Given the description of an element on the screen output the (x, y) to click on. 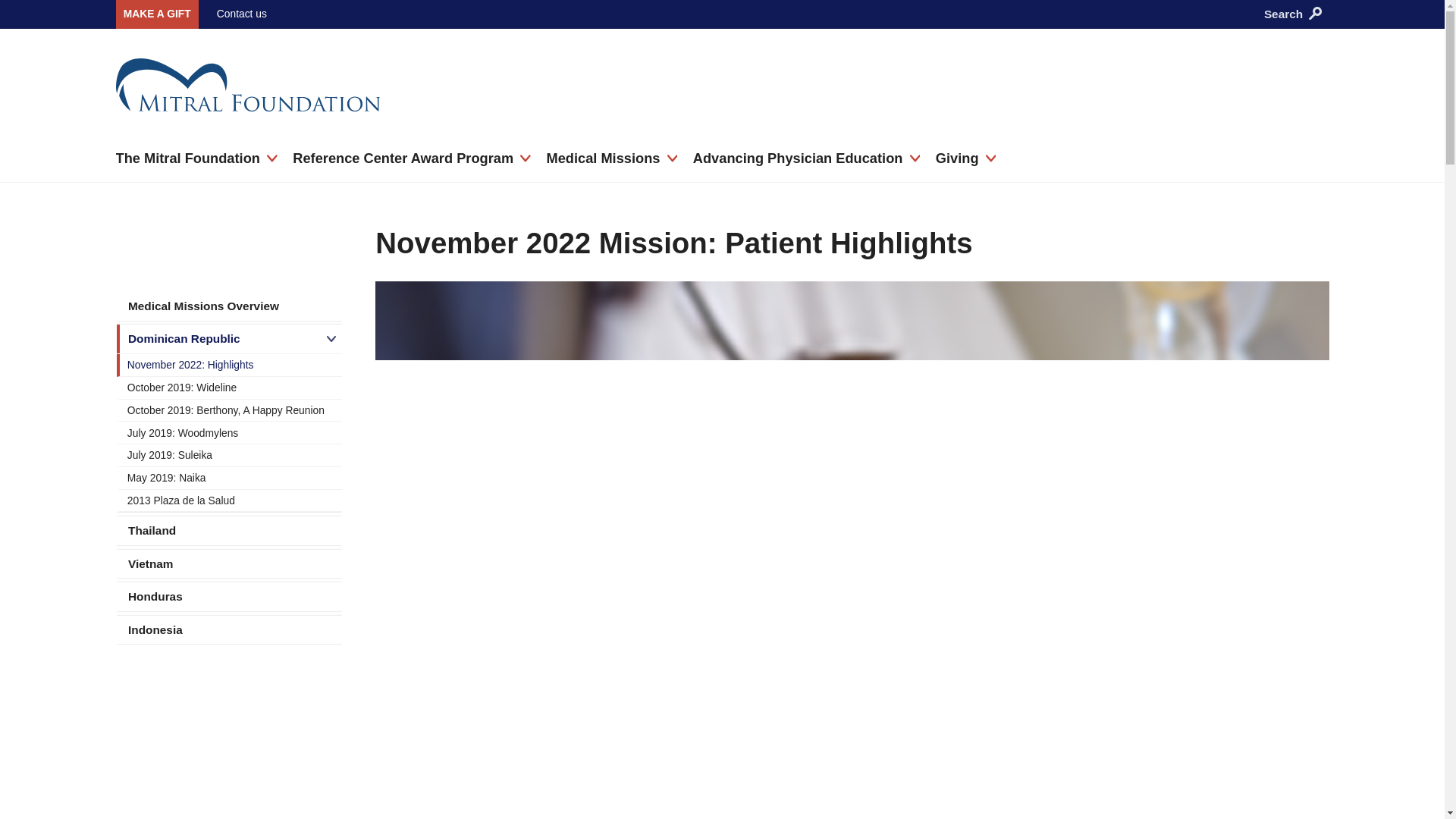
Advancing Physician Education (806, 159)
Contact us (241, 13)
The Mitral Foundation (195, 159)
Medical Missions (611, 159)
Search (1315, 12)
Giving (965, 159)
Medical Missions Overview (229, 306)
Reference Center Award Program (411, 159)
Search Search (1292, 13)
MAKE A GIFT (156, 14)
Home (479, 90)
Search (1173, 108)
